Given the description of an element on the screen output the (x, y) to click on. 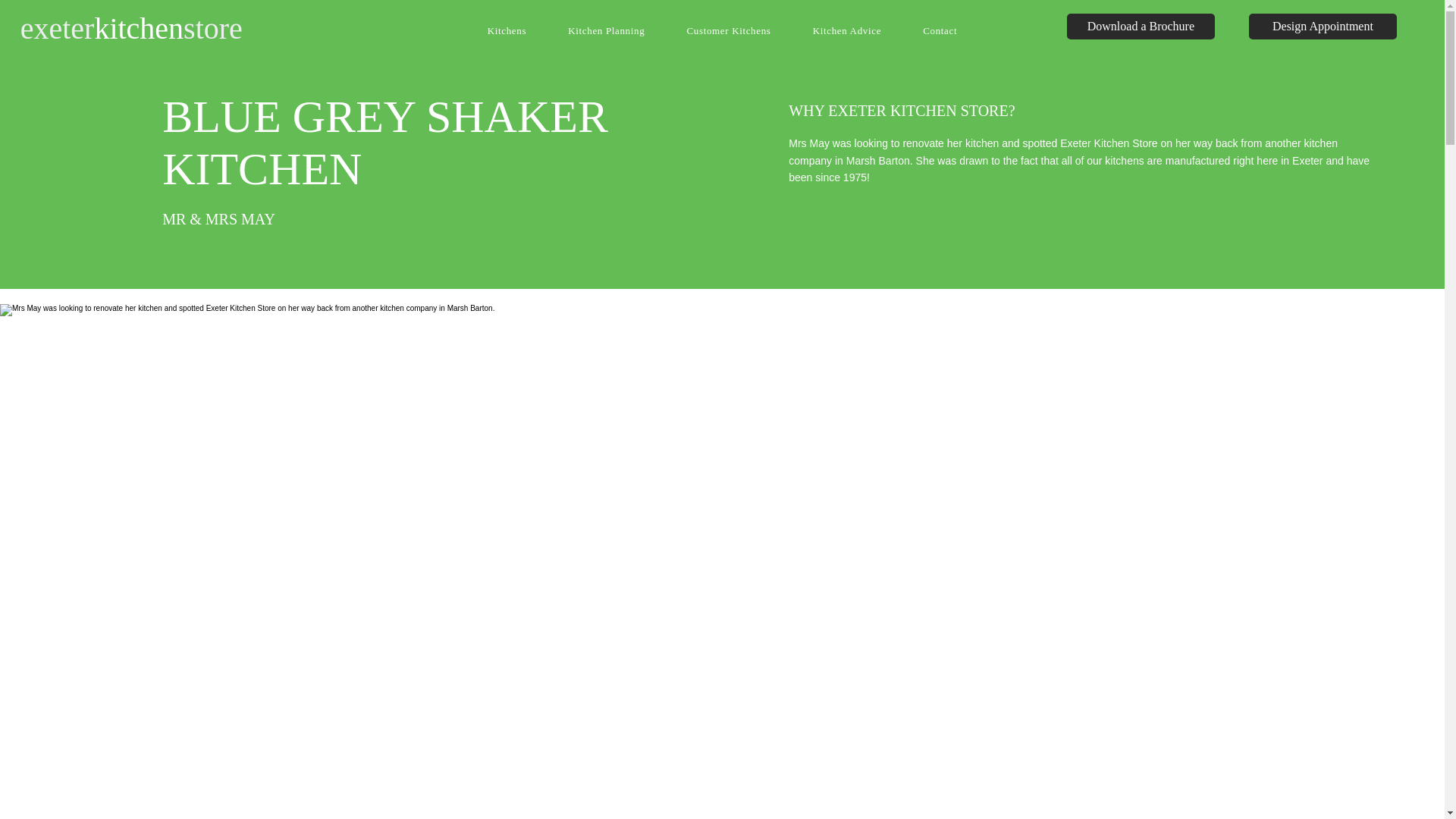
Kitchens (506, 30)
Download a Brochure (1140, 26)
Customer Kitchens (728, 30)
Design Appointment (1322, 26)
exeterkitchenstore (131, 28)
Kitchen Planning (606, 30)
Contact (940, 30)
Kitchen Advice (846, 30)
